Given the description of an element on the screen output the (x, y) to click on. 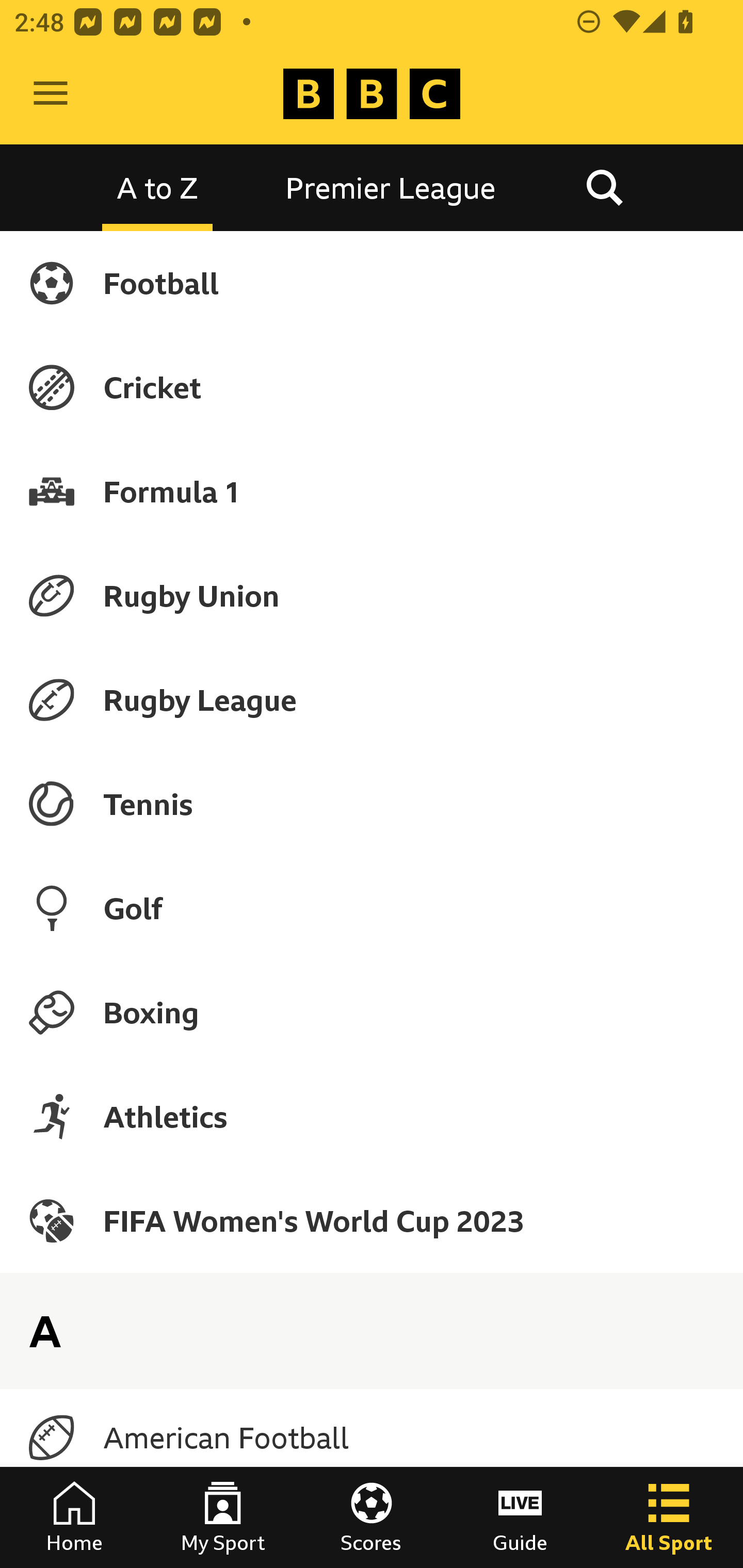
Open Menu (50, 93)
Premier League (390, 187)
Search (604, 187)
Football (371, 282)
Cricket (371, 387)
Formula 1 (371, 491)
Rugby Union (371, 595)
Rugby League (371, 699)
Tennis (371, 804)
Golf (371, 907)
Boxing (371, 1011)
Athletics (371, 1116)
FIFA Women's World Cup 2023 (371, 1220)
American Football (371, 1437)
Home (74, 1517)
My Sport (222, 1517)
Scores (371, 1517)
Guide (519, 1517)
